Given the description of an element on the screen output the (x, y) to click on. 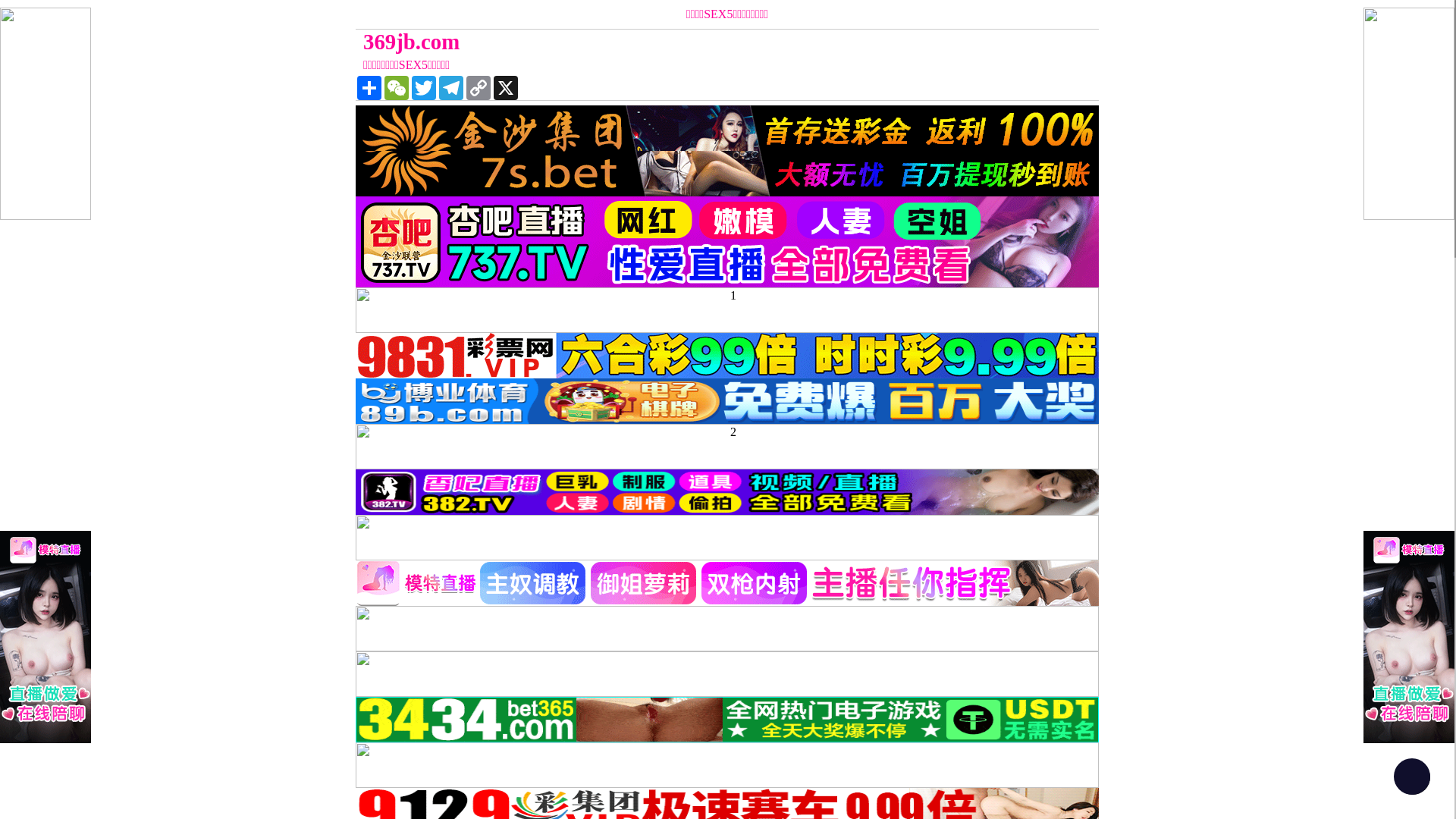
369jb.com Element type: text (634, 41)
Copy Link Element type: text (478, 87)
Telegram Element type: text (450, 87)
WeChat Element type: text (396, 87)
Twitter Element type: text (423, 87)
X Element type: text (505, 87)
